Given the description of an element on the screen output the (x, y) to click on. 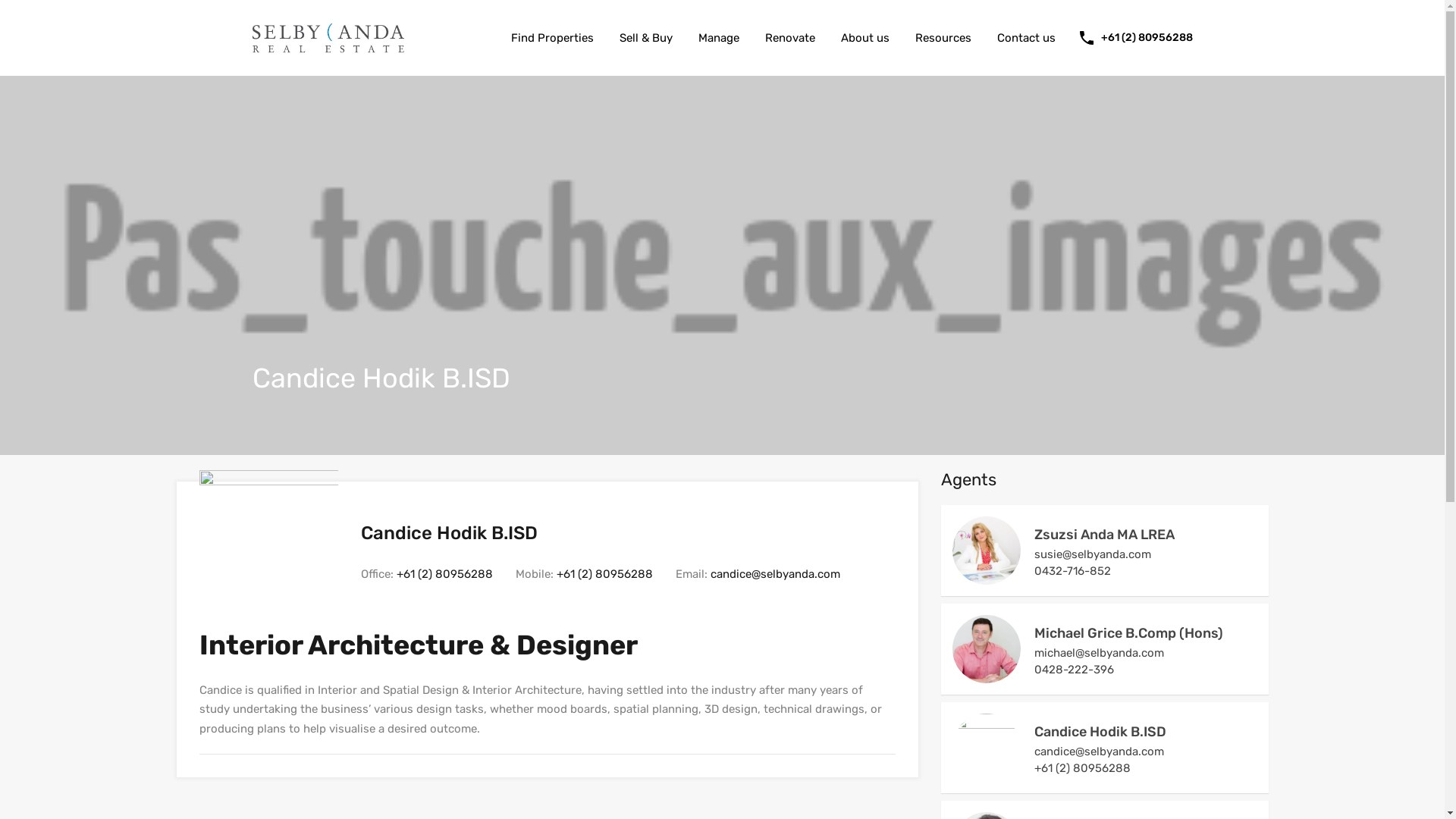
About us Element type: text (865, 37)
Candice Hodik B.ISD Element type: hover (986, 774)
candice@selbyanda.com Element type: text (775, 573)
+61 (2) 80956288 Element type: text (1146, 37)
susie@selbyanda.com Element type: text (1145, 554)
Contact us Element type: text (1026, 37)
michael@selbyanda.com Element type: text (1145, 652)
Resources Element type: text (943, 37)
Manage Element type: text (718, 37)
Candice Hodik B.ISD Element type: hover (268, 602)
Zsuzsi Anda MA LREA Element type: text (1104, 534)
Candice Hodik B.ISD Element type: text (1100, 731)
Renovate Element type: text (790, 37)
Michael Grice B.Comp (Hons) Element type: text (1128, 632)
candice@selbyanda.com Element type: text (1145, 751)
Find Properties Element type: text (551, 37)
Michael Grice B.Comp (Hons) Element type: hover (986, 676)
+61 (2) 80956288 Element type: text (604, 573)
Selby Anda Real Estate Element type: hover (327, 46)
Zsuzsi Anda MA LREA Element type: hover (986, 577)
Sell & Buy Element type: text (645, 37)
+61 (2) 80956288 Element type: text (444, 573)
